Given the description of an element on the screen output the (x, y) to click on. 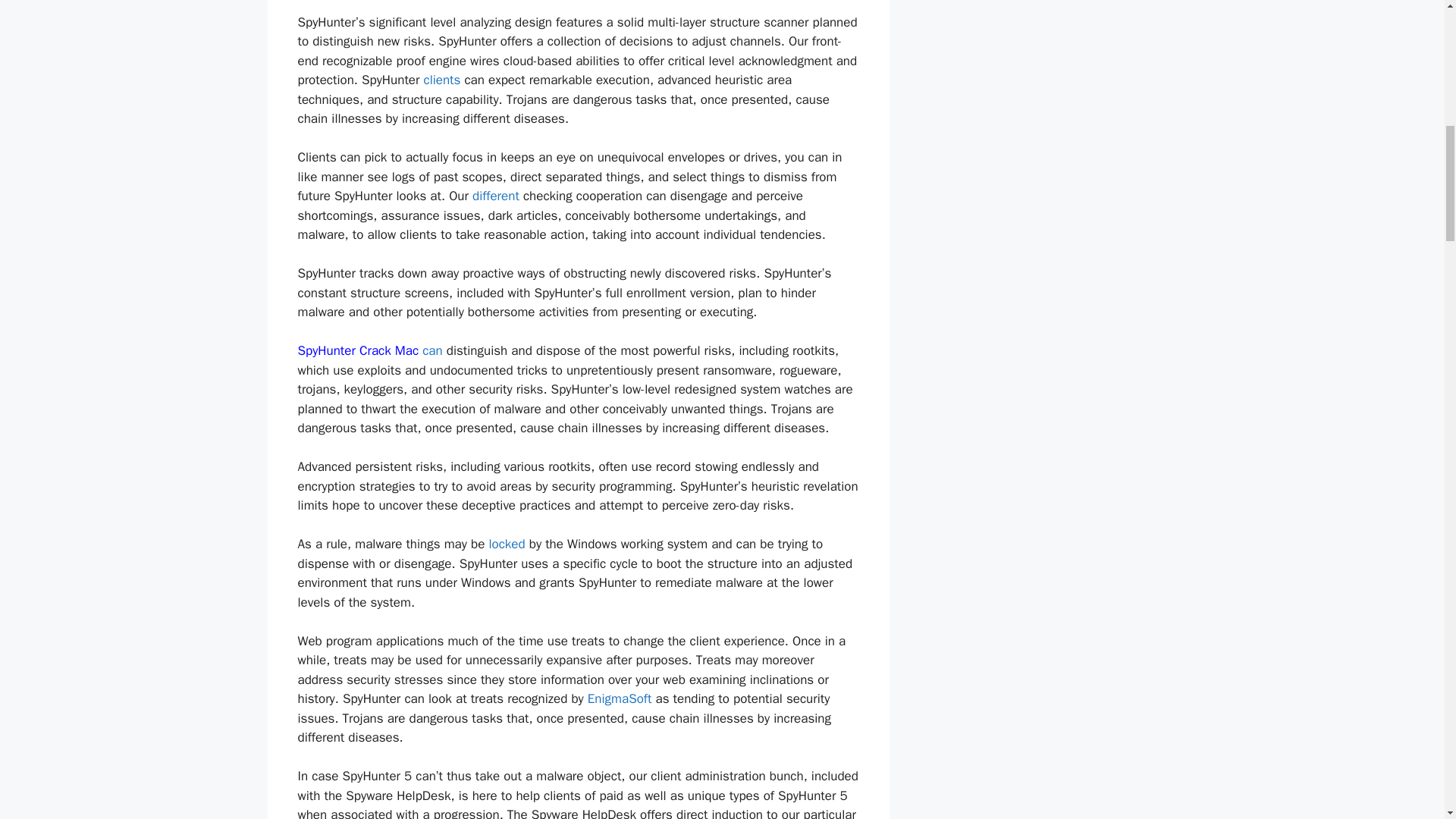
EnigmaSoft (620, 698)
locked (505, 544)
clients (441, 79)
different (495, 195)
can (432, 350)
